Given the description of an element on the screen output the (x, y) to click on. 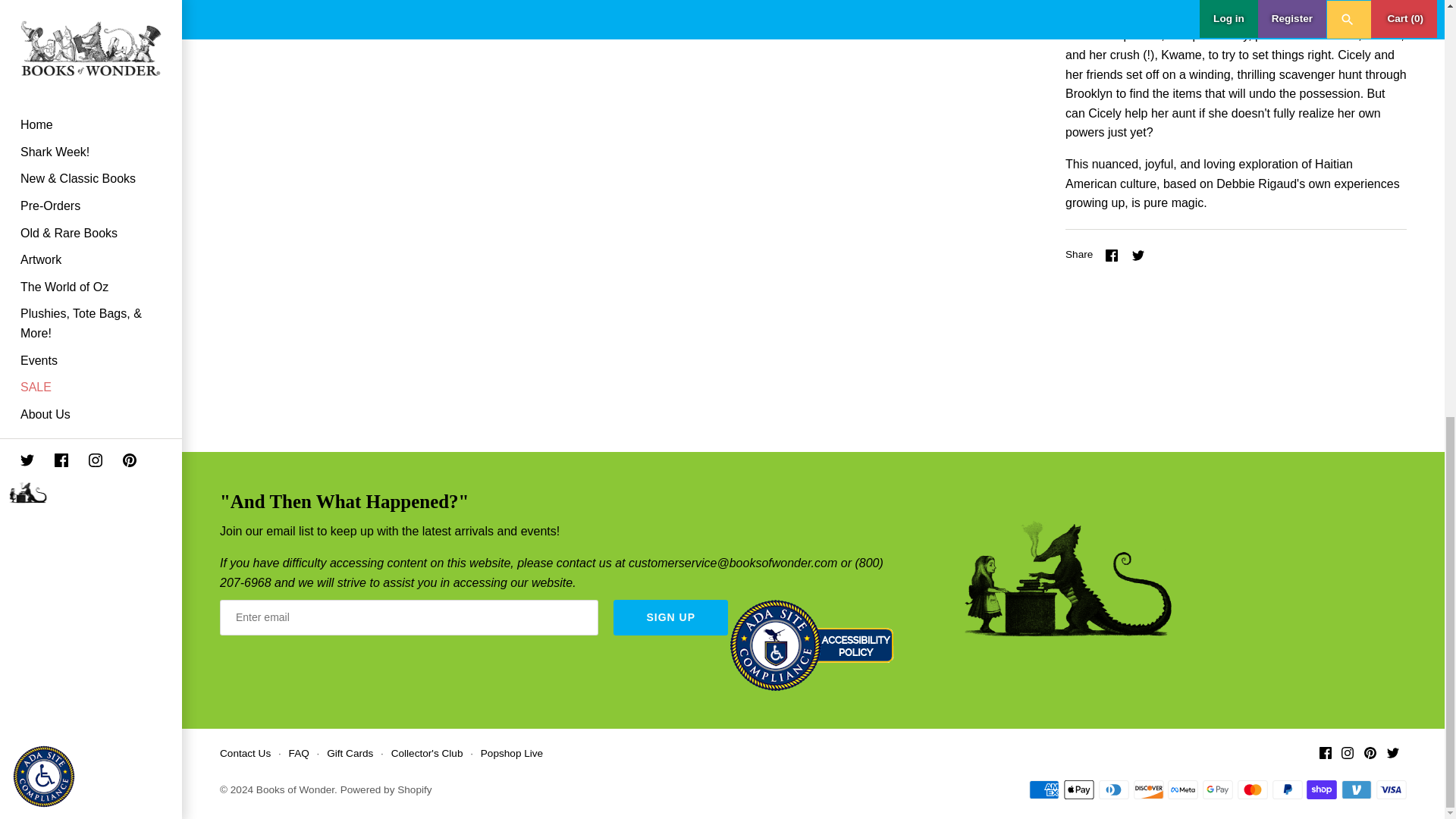
Discover (1148, 789)
Google Pay (1217, 789)
Shop Pay (1321, 789)
Instagram (1347, 752)
Mastercard (1252, 789)
Pinterest (1369, 752)
Twitter (1138, 255)
Meta Pay (1182, 789)
Facebook (1325, 752)
Diners Club (1114, 789)
PayPal (1287, 789)
Twitter (1393, 752)
Apple Pay (1079, 789)
American Express (1044, 789)
Facebook (1111, 255)
